Given the description of an element on the screen output the (x, y) to click on. 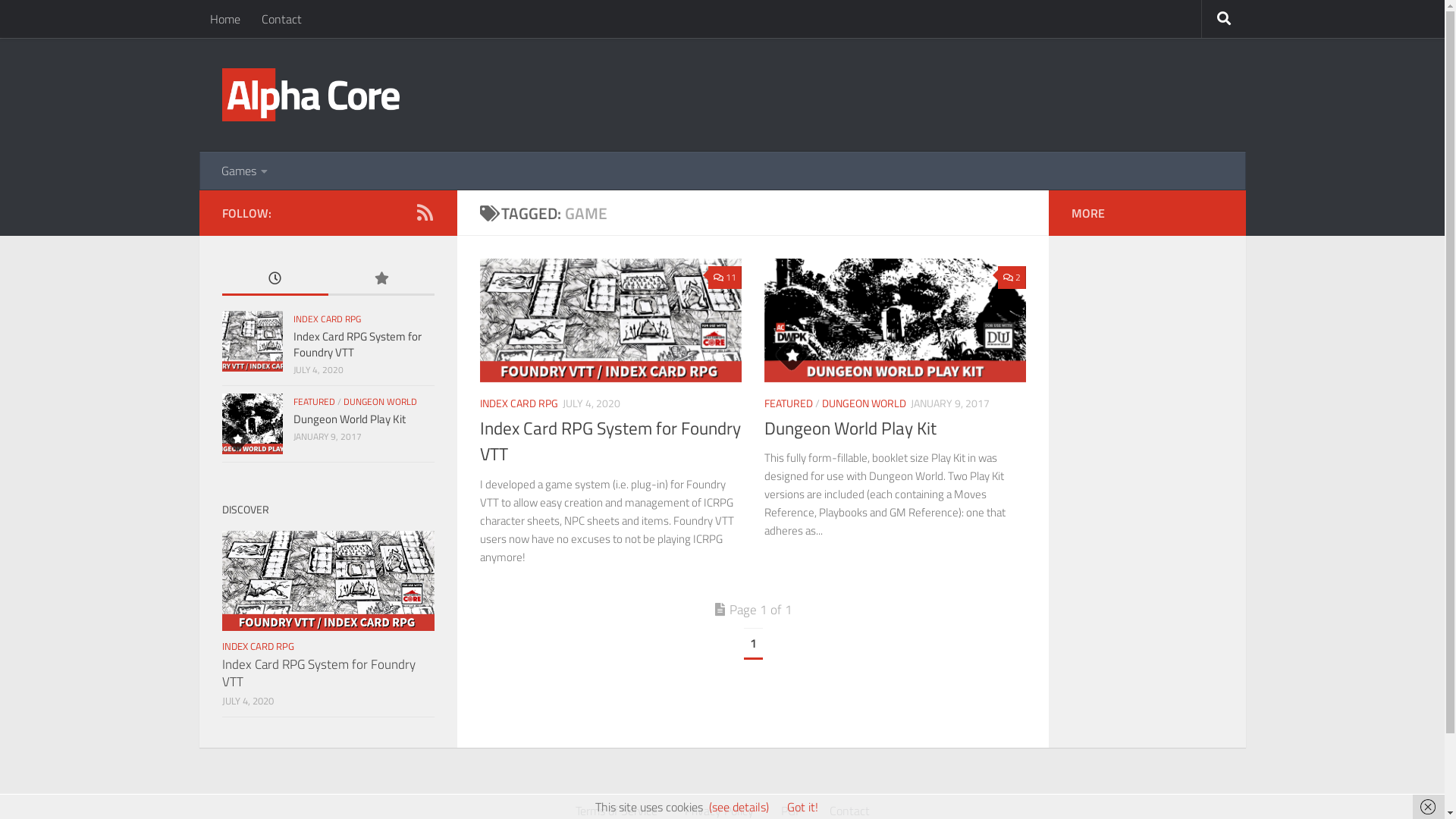
Got it! Element type: text (802, 806)
FEATURED Element type: text (788, 403)
DUNGEON WORLD Element type: text (864, 403)
Skip to content Element type: text (60, 23)
(see details) Element type: text (738, 806)
RSS Feed Element type: hover (424, 212)
Dungeon World Play Kit Element type: text (850, 427)
Games Element type: text (244, 170)
DUNGEON WORLD Element type: text (379, 401)
11 Element type: text (724, 277)
2 Element type: text (1011, 277)
FEATURED Element type: text (313, 401)
INDEX CARD RPG Element type: text (518, 403)
Index Card RPG System for Foundry VTT Element type: text (356, 343)
Alpha Core | Home page Element type: hover (309, 94)
Dungeon World Play Kit Element type: text (348, 418)
Index Card RPG System for Foundry VTT Element type: text (609, 440)
Popular Posts Element type: hover (380, 279)
INDEX CARD RPG Element type: text (326, 318)
Recent Posts Element type: hover (274, 279)
Contact Element type: text (280, 18)
INDEX CARD RPG Element type: text (257, 645)
Home Element type: text (224, 18)
Index Card RPG System for Foundry VTT Element type: text (317, 673)
